Given the description of an element on the screen output the (x, y) to click on. 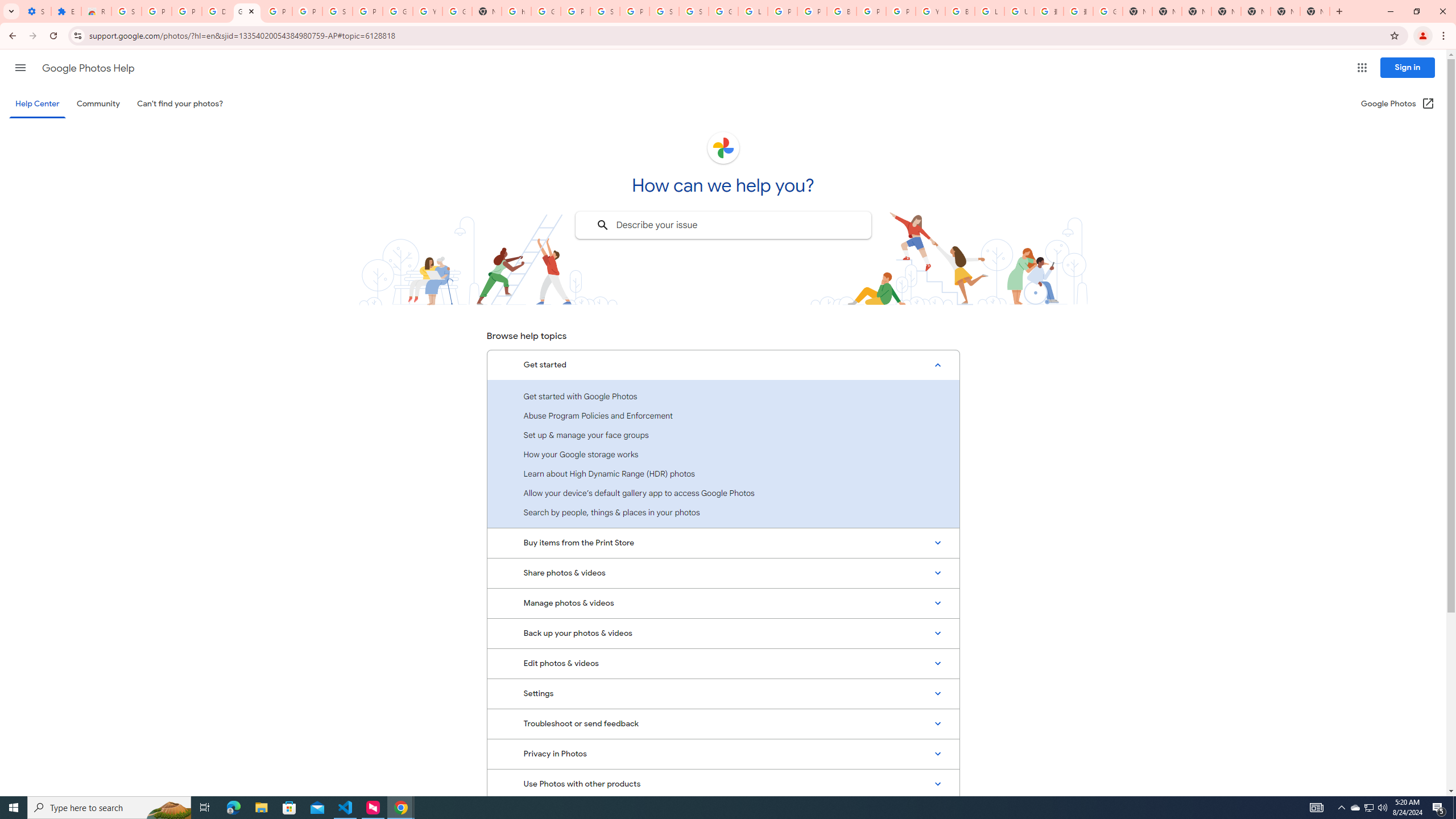
Google Photos Help (87, 68)
Edit photos & videos (722, 663)
New Tab (1314, 11)
Troubleshoot or send feedback (722, 723)
Sign in - Google Accounts (126, 11)
Get started with Google Photos (722, 396)
Describe your issue to find information that might help you. (722, 225)
